Given the description of an element on the screen output the (x, y) to click on. 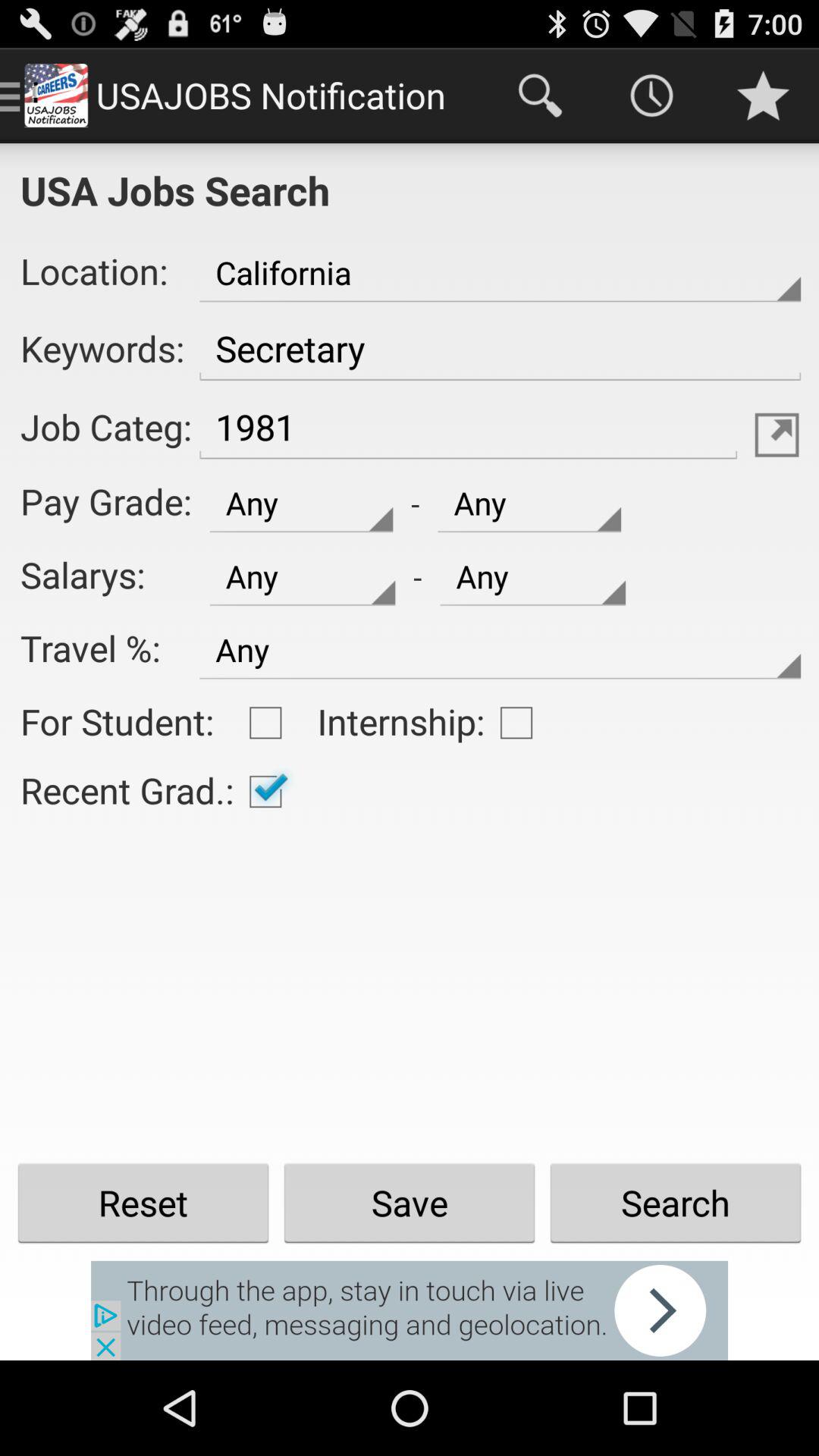
radio button for indicating if your a student (265, 722)
